Given the description of an element on the screen output the (x, y) to click on. 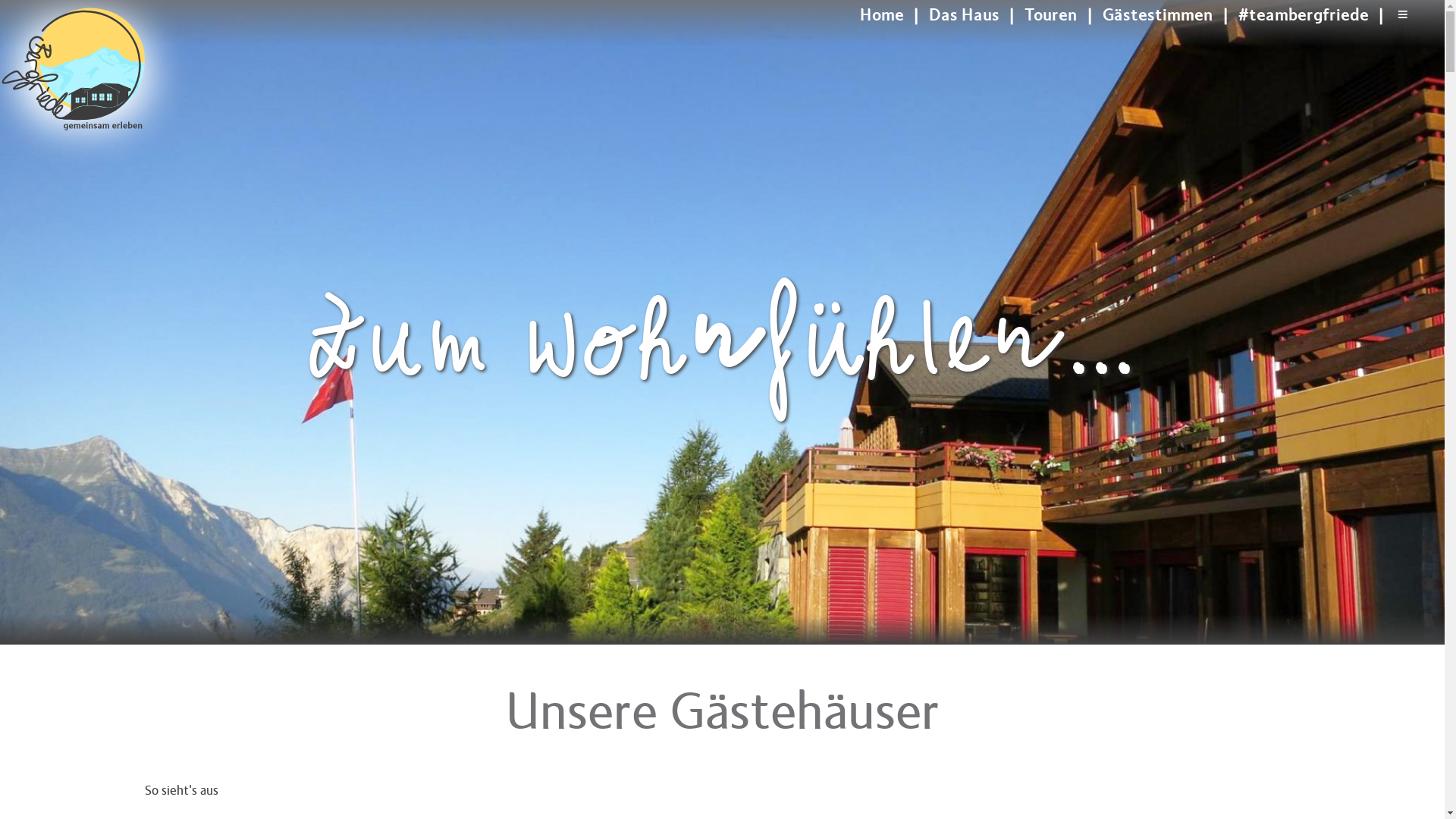
    +41 76 722 4105 Element type: text (688, 7)
google Element type: hover (781, 38)
email Element type: hover (652, 38)
    Element type: text (756, 38)
#teambergfriede Element type: text (1303, 15)
    Element type: text (678, 38)
    +49 176 4700 7608 Element type: text (693, 21)
Facebook Element type: hover (730, 38)
Instagram Element type: hover (704, 38)
    Element type: text (781, 38)
Home Element type: text (881, 15)
     Element type: text (652, 38)
Das Haus Element type: text (963, 15)
    Element type: text (730, 38)
Whatsapp Element type: hover (678, 38)
Touren Element type: text (1050, 15)
    Element type: text (704, 38)
Youtube Element type: hover (756, 38)
